Given the description of an element on the screen output the (x, y) to click on. 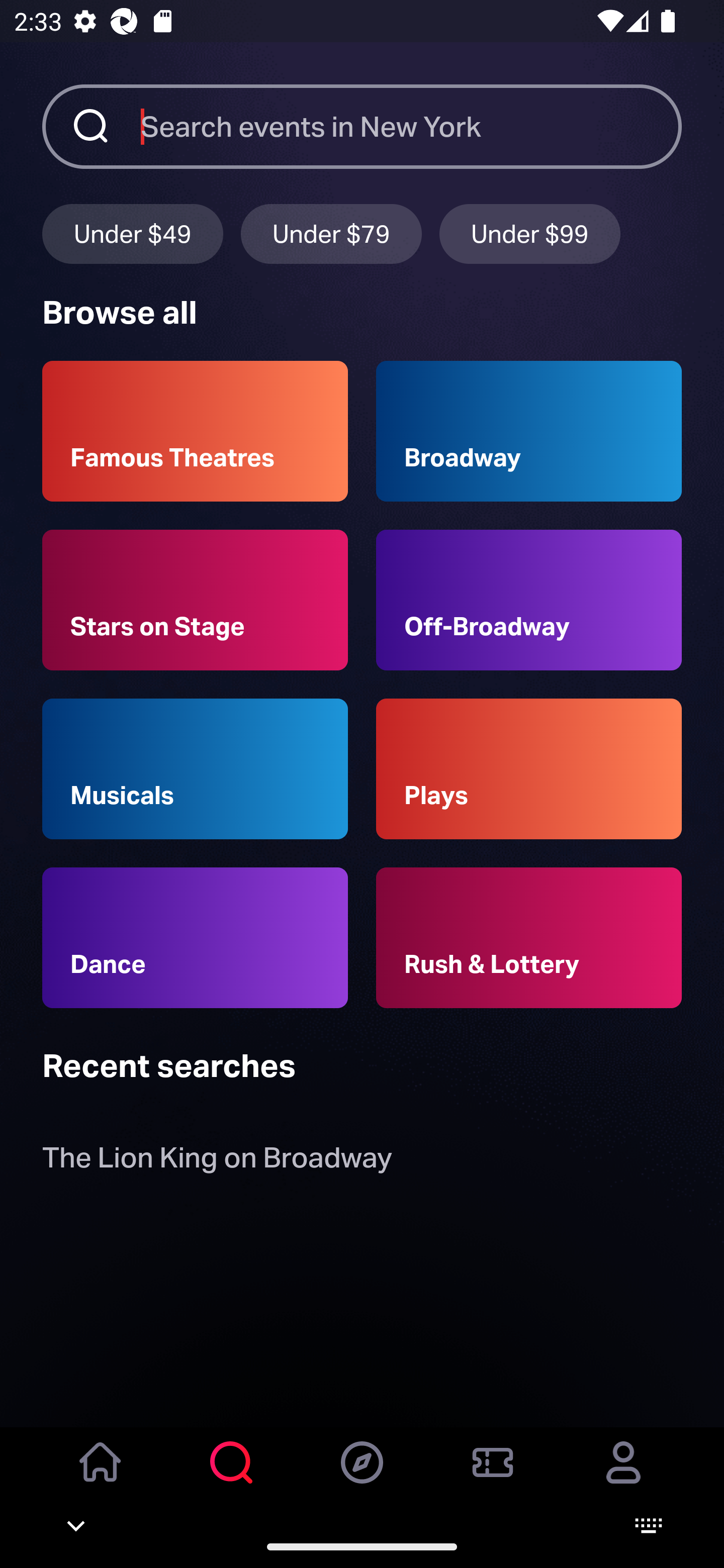
Search events in New York (411, 126)
Under $49 (131, 233)
Under $79 (331, 233)
Under $99 (529, 233)
Famous Theatres (194, 430)
Broadway (528, 430)
Stars on Stage (194, 600)
Off-Broadway (528, 600)
Musicals (194, 768)
Plays (528, 768)
Dance (194, 937)
Rush & Lottery (528, 937)
The Lion King on Broadway (216, 1161)
Home (100, 1475)
Discover (361, 1475)
Orders (492, 1475)
Account (623, 1475)
